Given the description of an element on the screen output the (x, y) to click on. 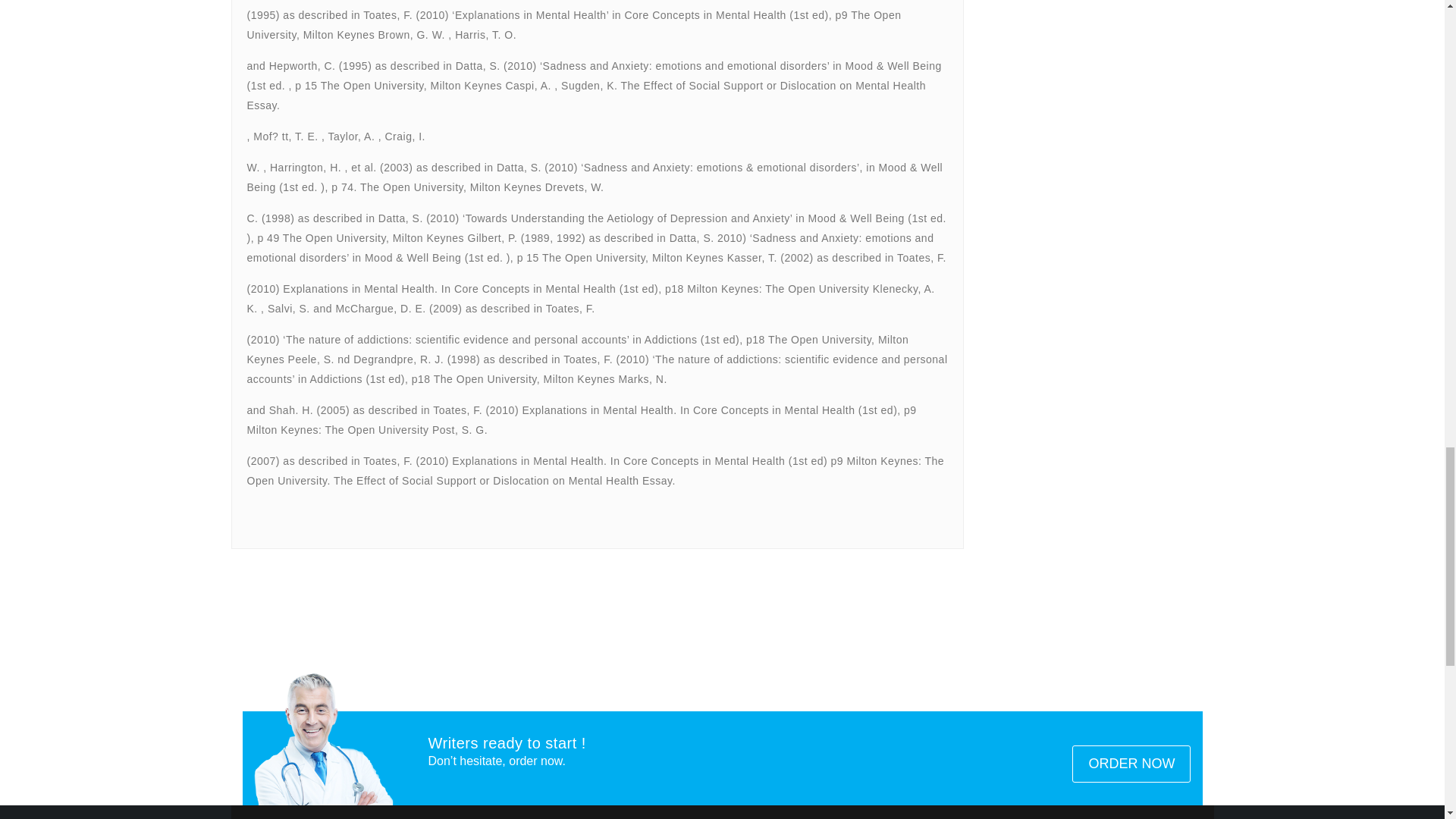
ORDER NOW (1131, 763)
